Given the description of an element on the screen output the (x, y) to click on. 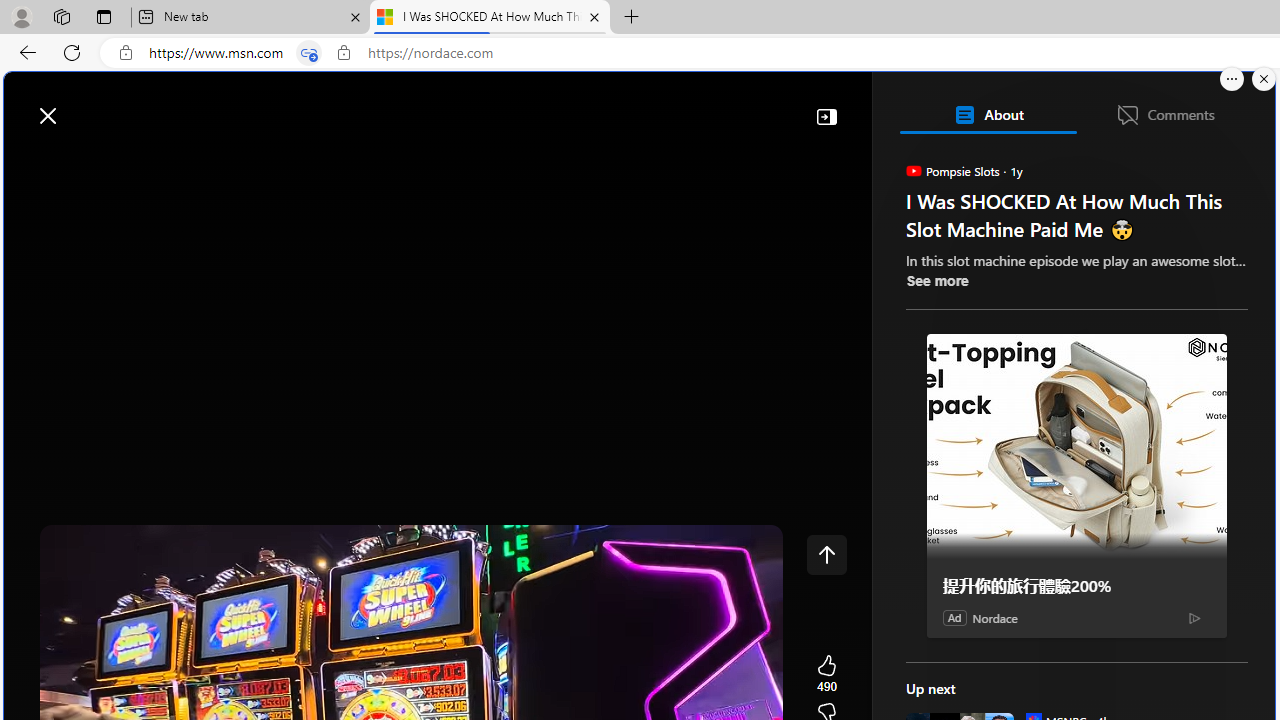
Close split screen. (1264, 79)
Web search (283, 105)
Collapse (826, 115)
Pompsie Slots (912, 170)
Class: control icon-only (826, 554)
